Given the description of an element on the screen output the (x, y) to click on. 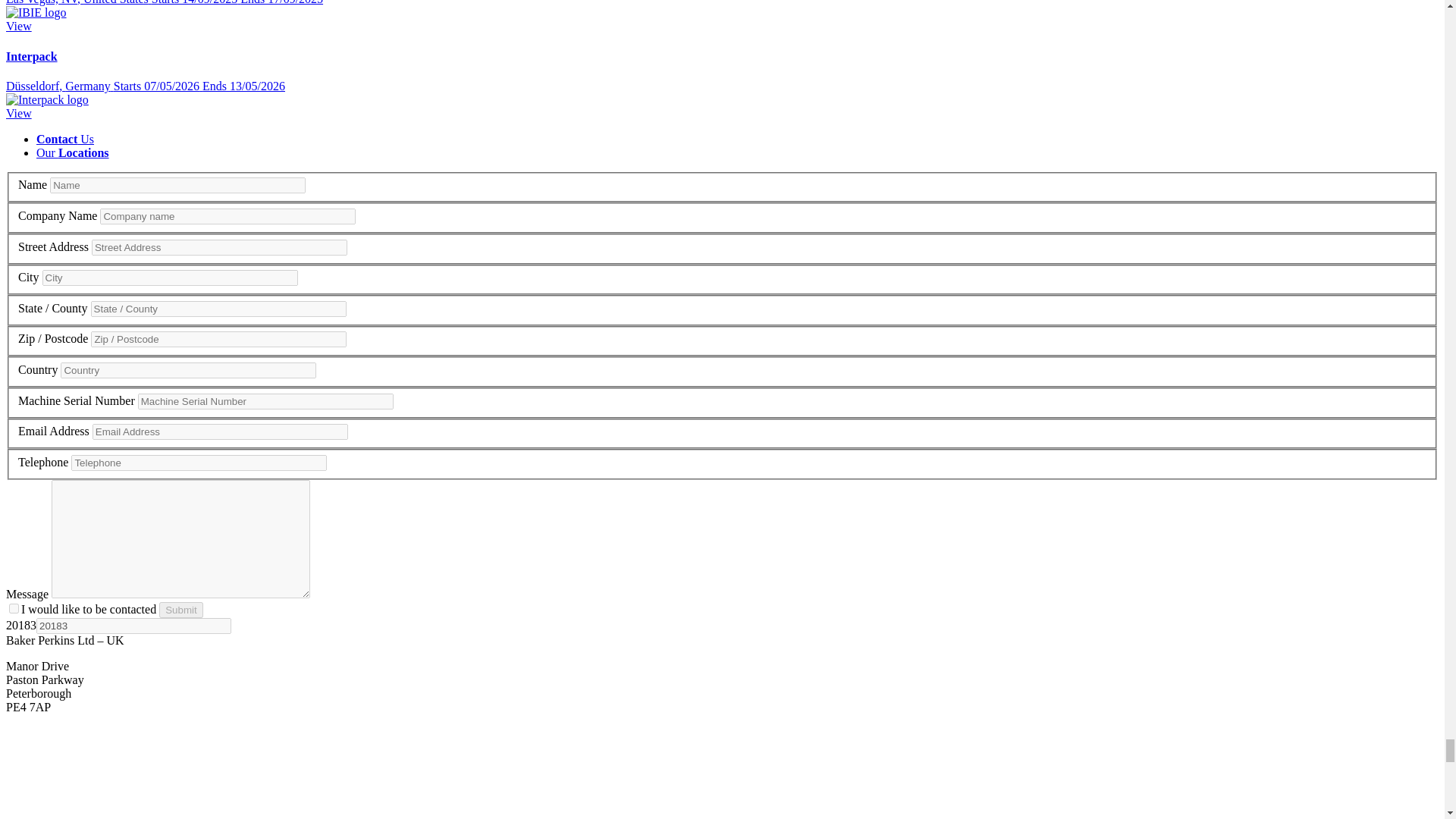
20183 (133, 625)
Submit (180, 609)
1 (13, 608)
